Given the description of an element on the screen output the (x, y) to click on. 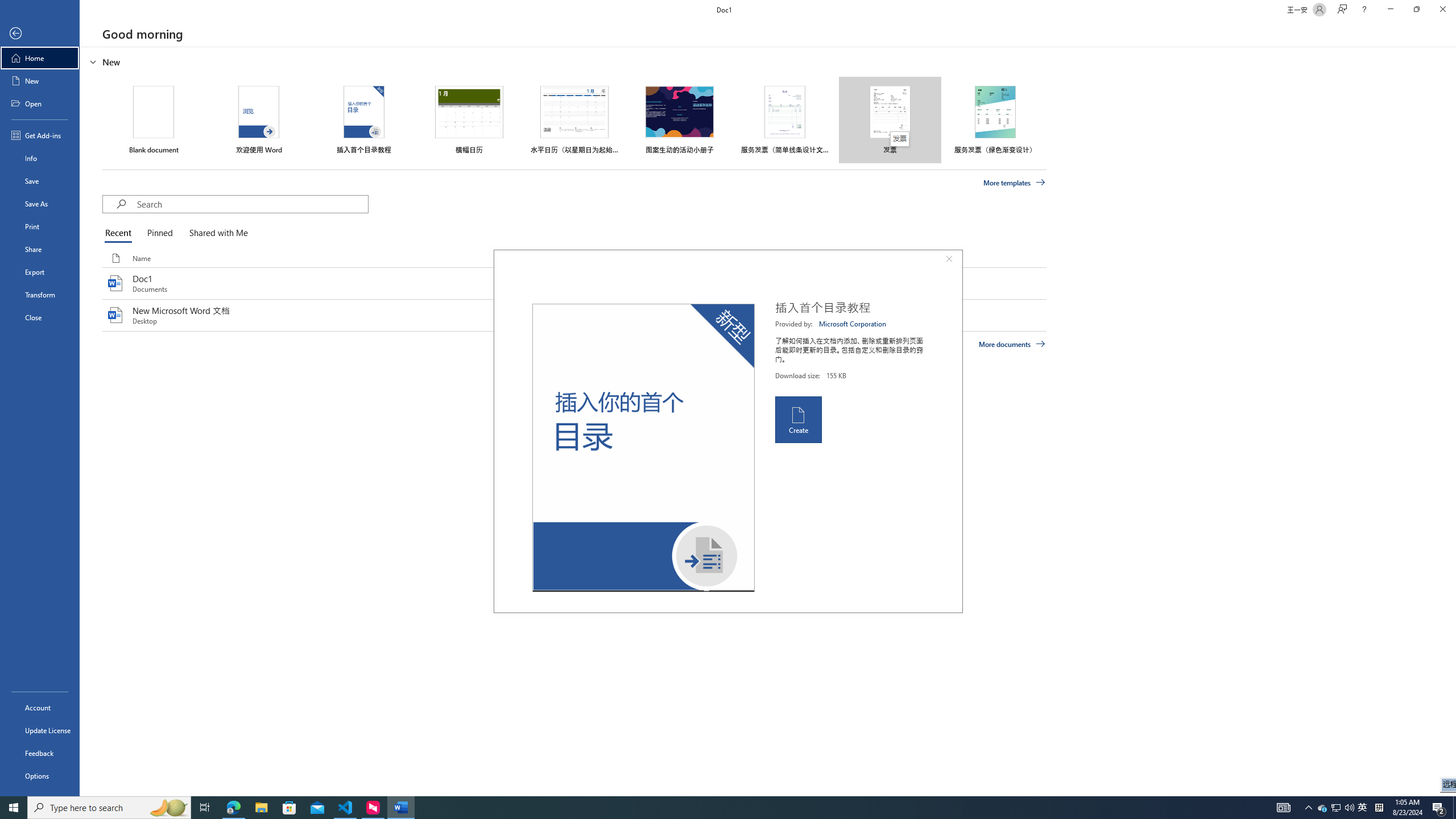
More templates (1014, 182)
Export (40, 271)
Microsoft Corporation (853, 323)
New (40, 80)
Pin this item to the list (739, 314)
Update License (40, 730)
Feedback (40, 753)
